Given the description of an element on the screen output the (x, y) to click on. 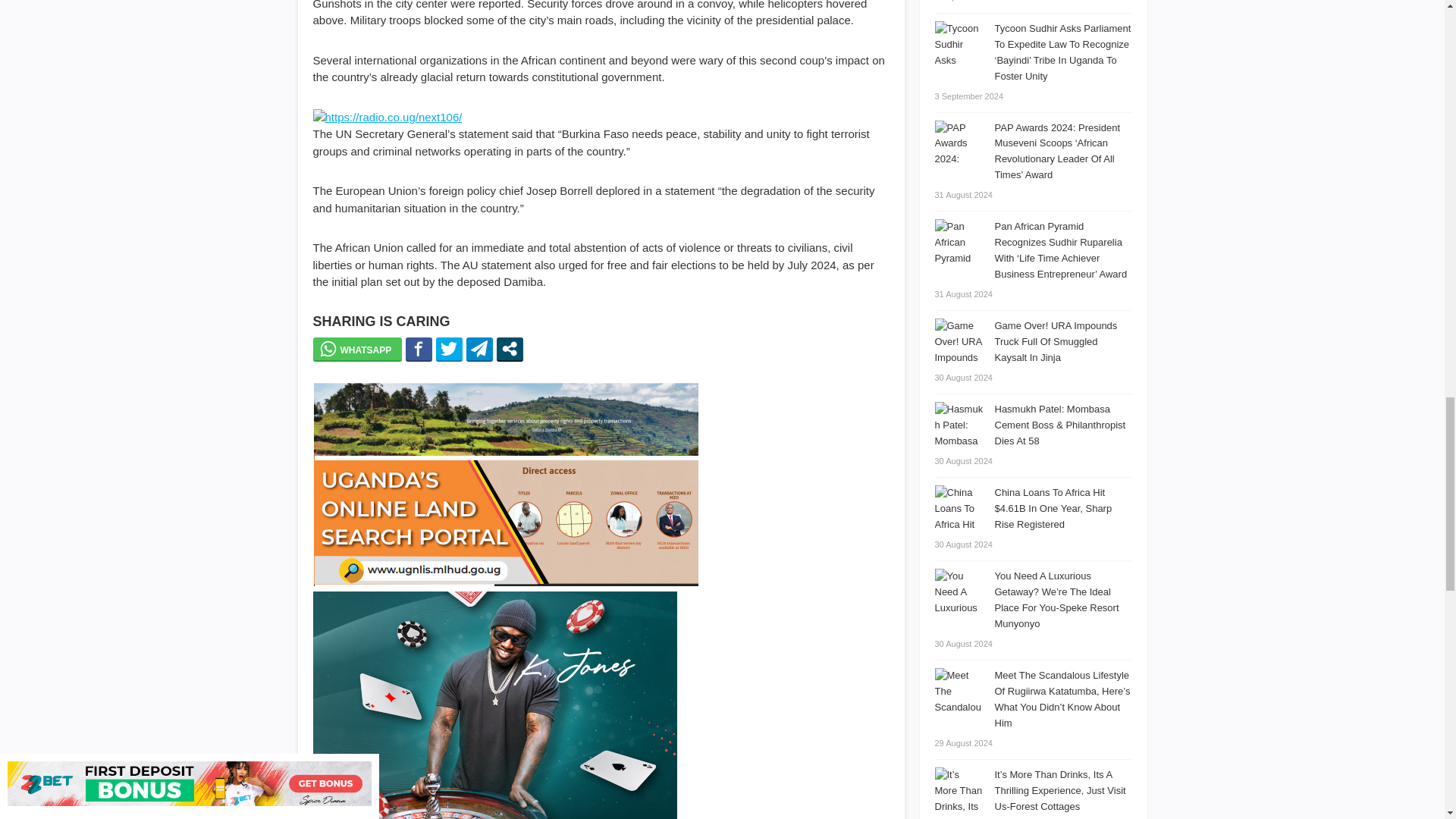
Share on Telegram (479, 348)
Tweet (449, 348)
Open modal social networks (509, 348)
Share on WhatsApp (357, 348)
Share on Facebook (419, 348)
